Given the description of an element on the screen output the (x, y) to click on. 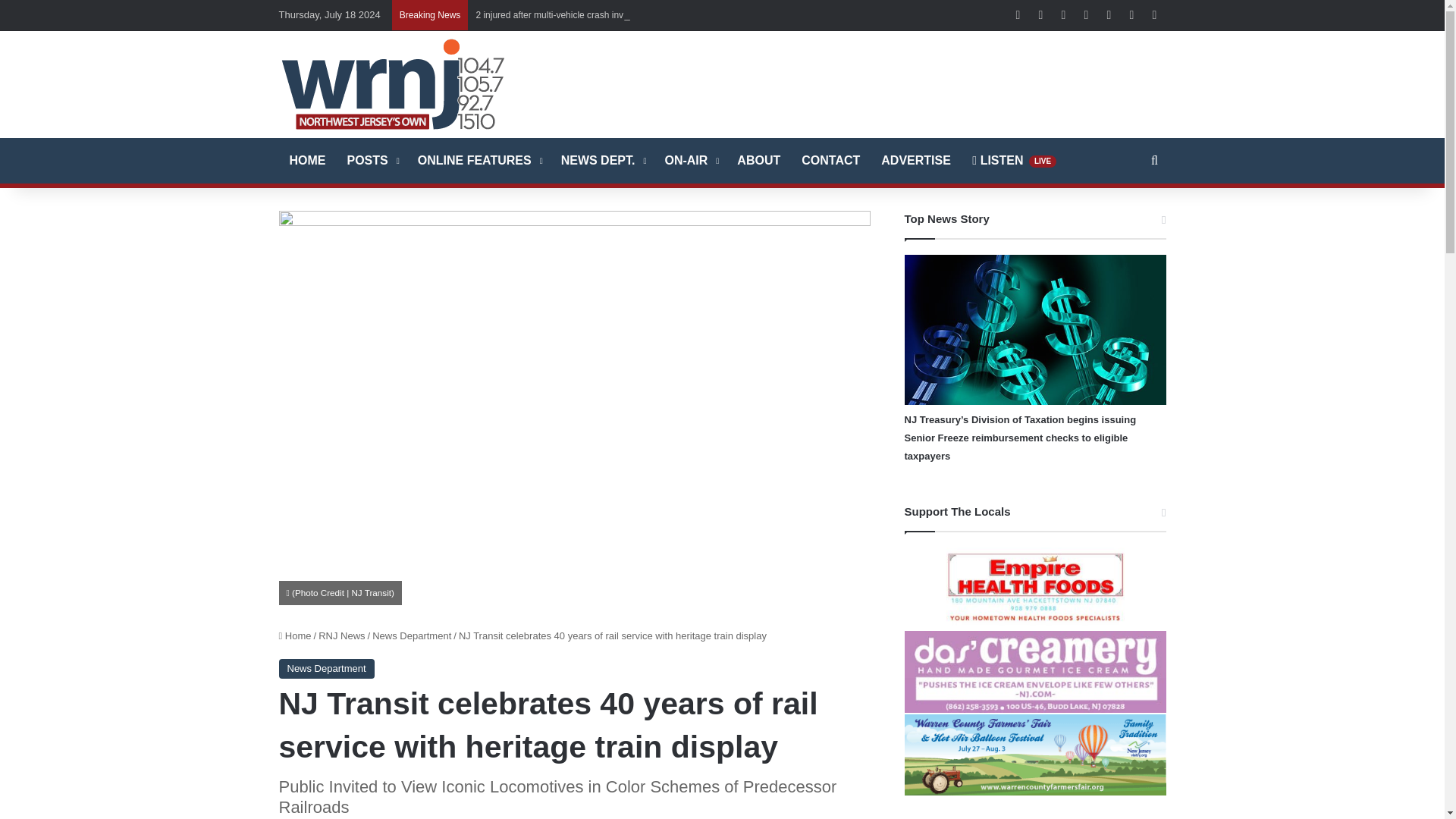
CONTACT (830, 160)
Warren County Farmers Fair (1035, 755)
HOME (307, 160)
ONLINE FEATURES (478, 160)
POSTS (371, 160)
ADVERTISE (915, 160)
ABOUT (758, 160)
RSS (1131, 15)
LinkedIn (1063, 15)
YouTube (1086, 15)
X (1040, 15)
Instagram (1109, 15)
Bandcamp (1154, 15)
WRNJ Radio (392, 83)
